Given the description of an element on the screen output the (x, y) to click on. 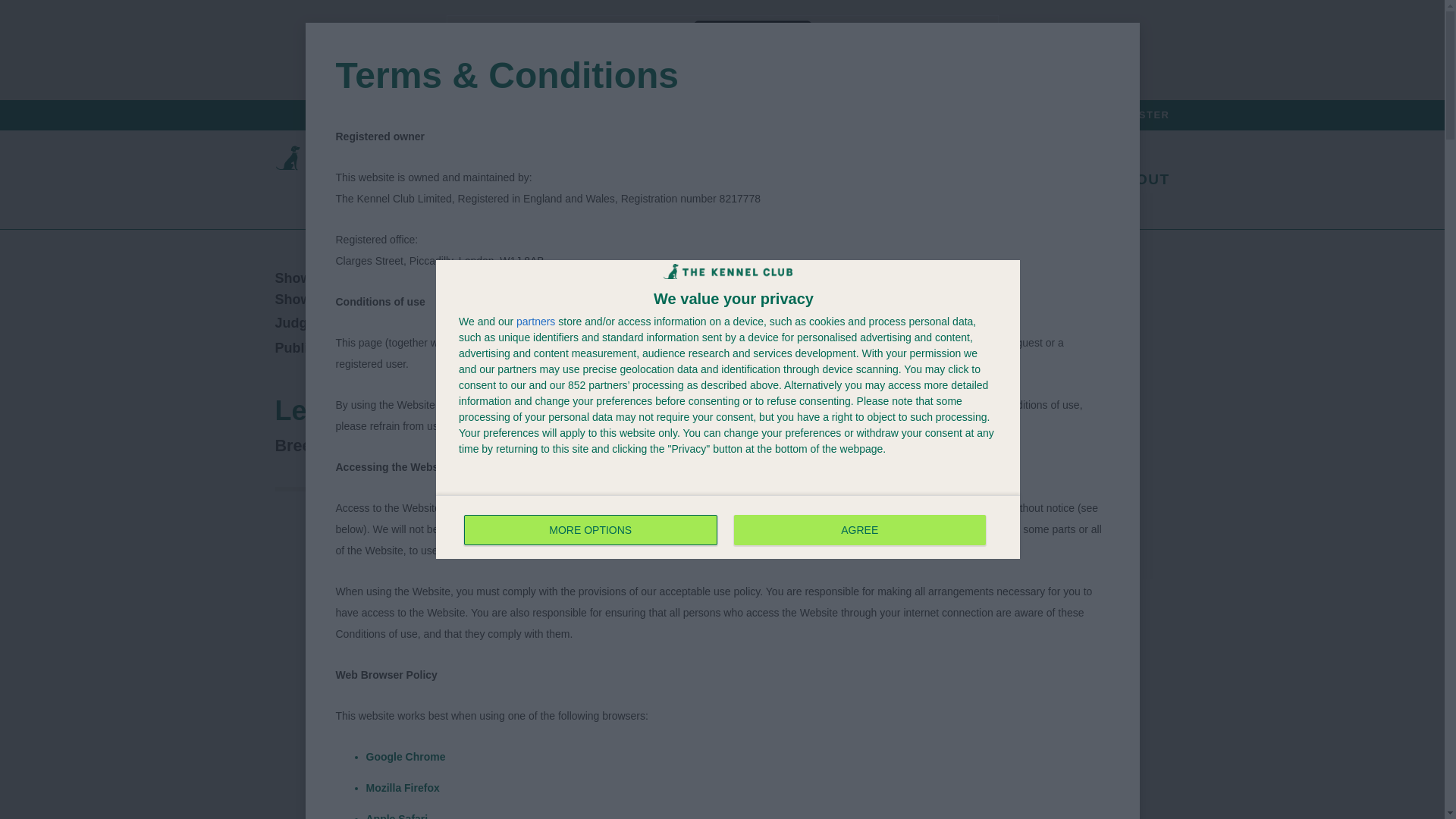
ABOUT (1140, 179)
Google Chrome (405, 756)
Apple Safari (396, 816)
Mozilla Firefox (402, 787)
AGREE (859, 530)
FIND A CRITIQUE (929, 114)
partners (535, 321)
CONTACT JUDGE (505, 323)
MORE OPTIONS (590, 530)
FAQS (727, 526)
EXHIBITORS (1054, 179)
